Given the description of an element on the screen output the (x, y) to click on. 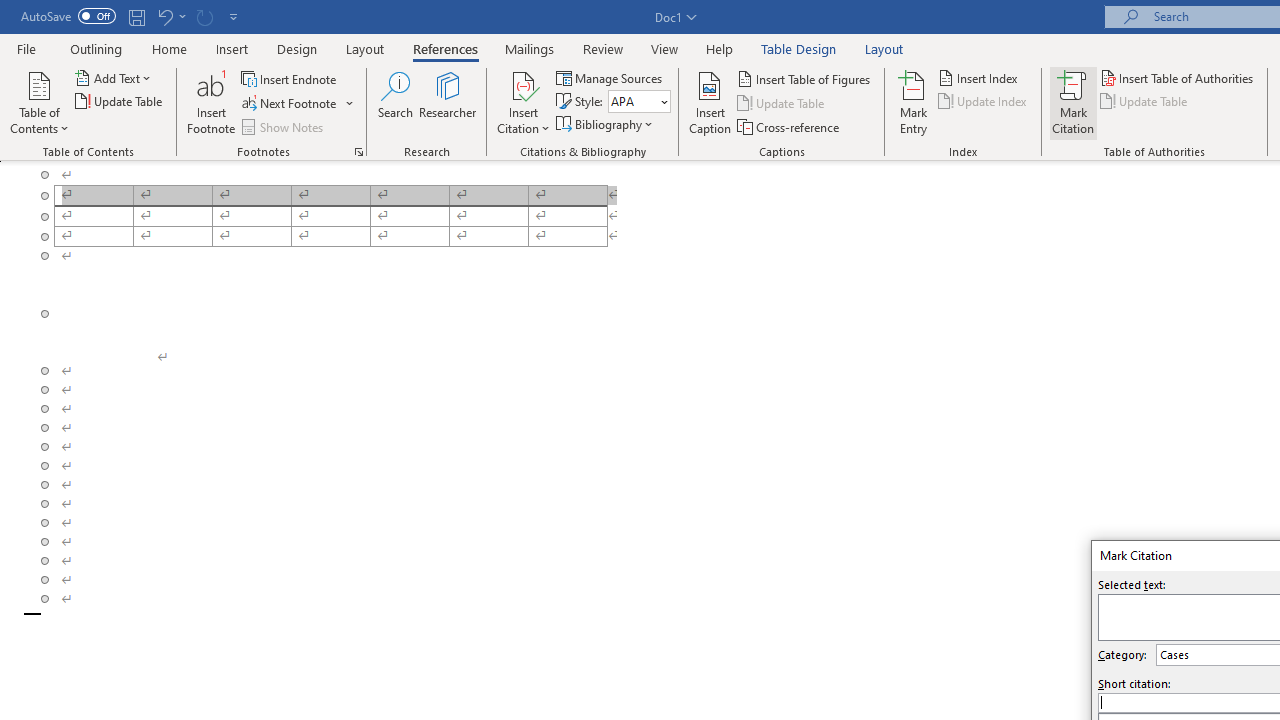
Next Footnote (298, 103)
Next Footnote (290, 103)
Mark Citation... (1072, 102)
Insert Caption... (710, 102)
Style (639, 101)
Update Index (984, 101)
Insert Table of Figures... (804, 78)
Researcher (447, 102)
Insert Citation (523, 102)
Update Table... (119, 101)
Mark Entry... (913, 102)
